Given the description of an element on the screen output the (x, y) to click on. 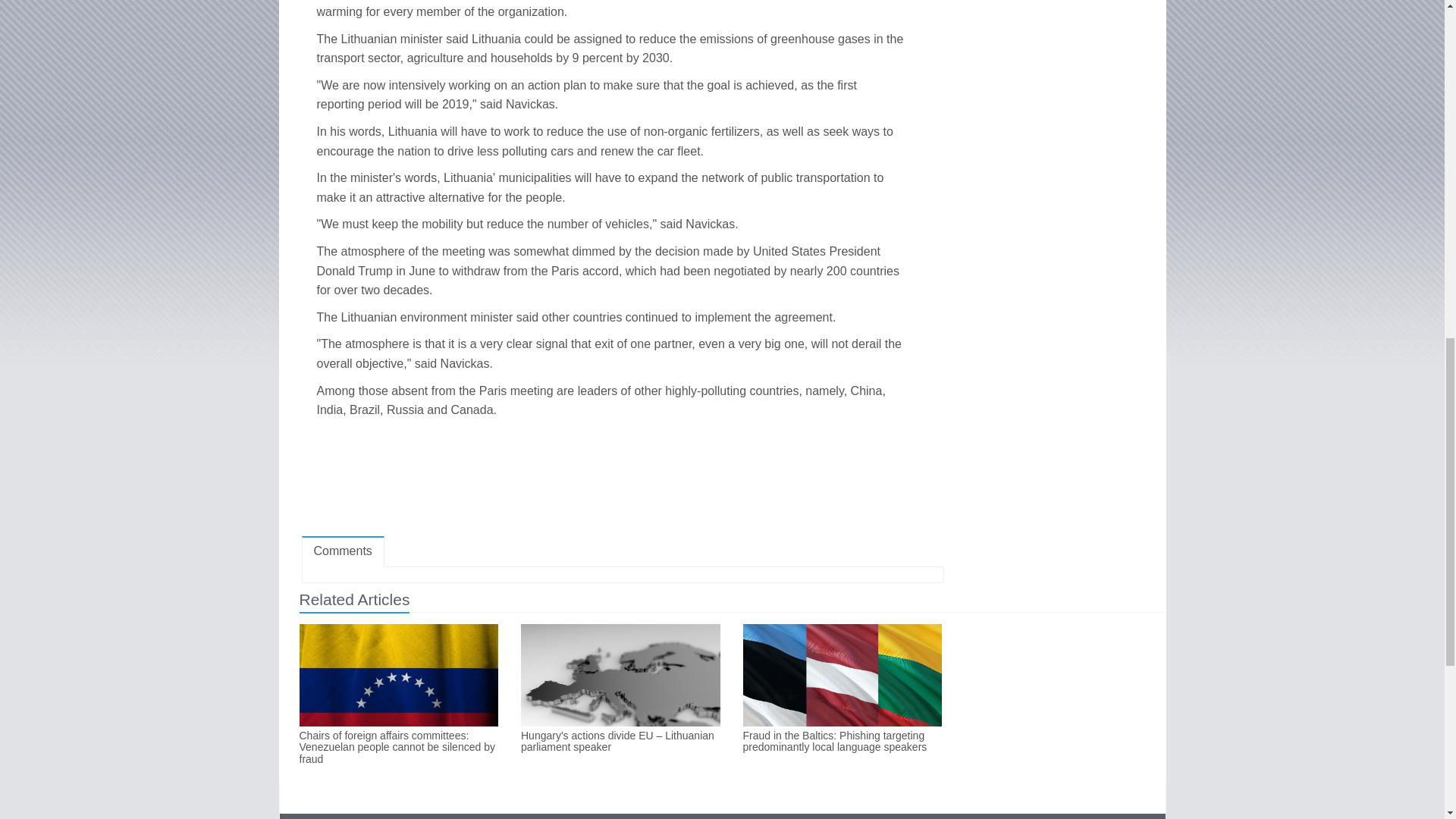
Comments (342, 551)
Advertisement (622, 480)
